Given the description of an element on the screen output the (x, y) to click on. 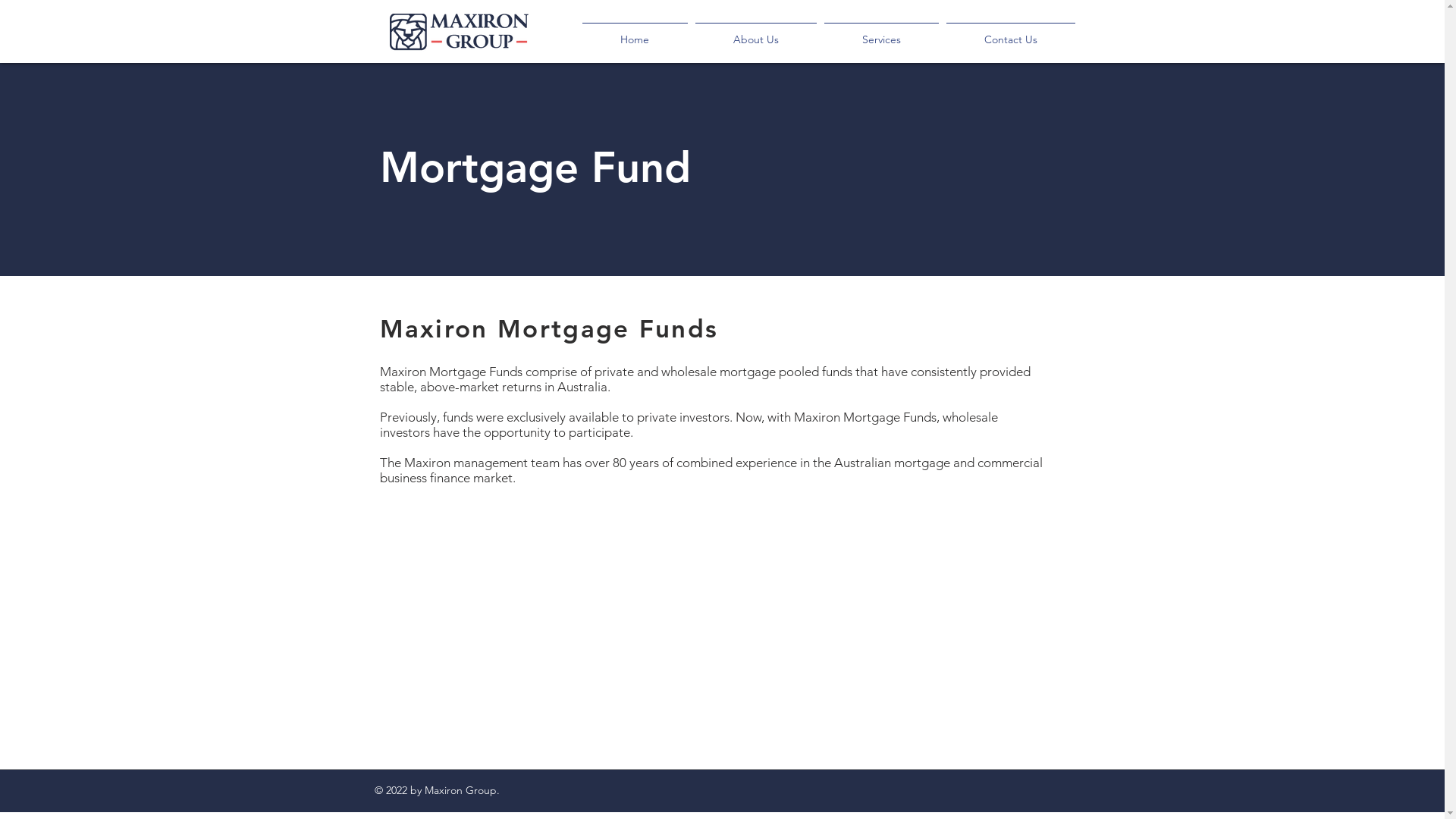
Home Element type: text (633, 32)
Contact Us Element type: text (1009, 32)
